Given the description of an element on the screen output the (x, y) to click on. 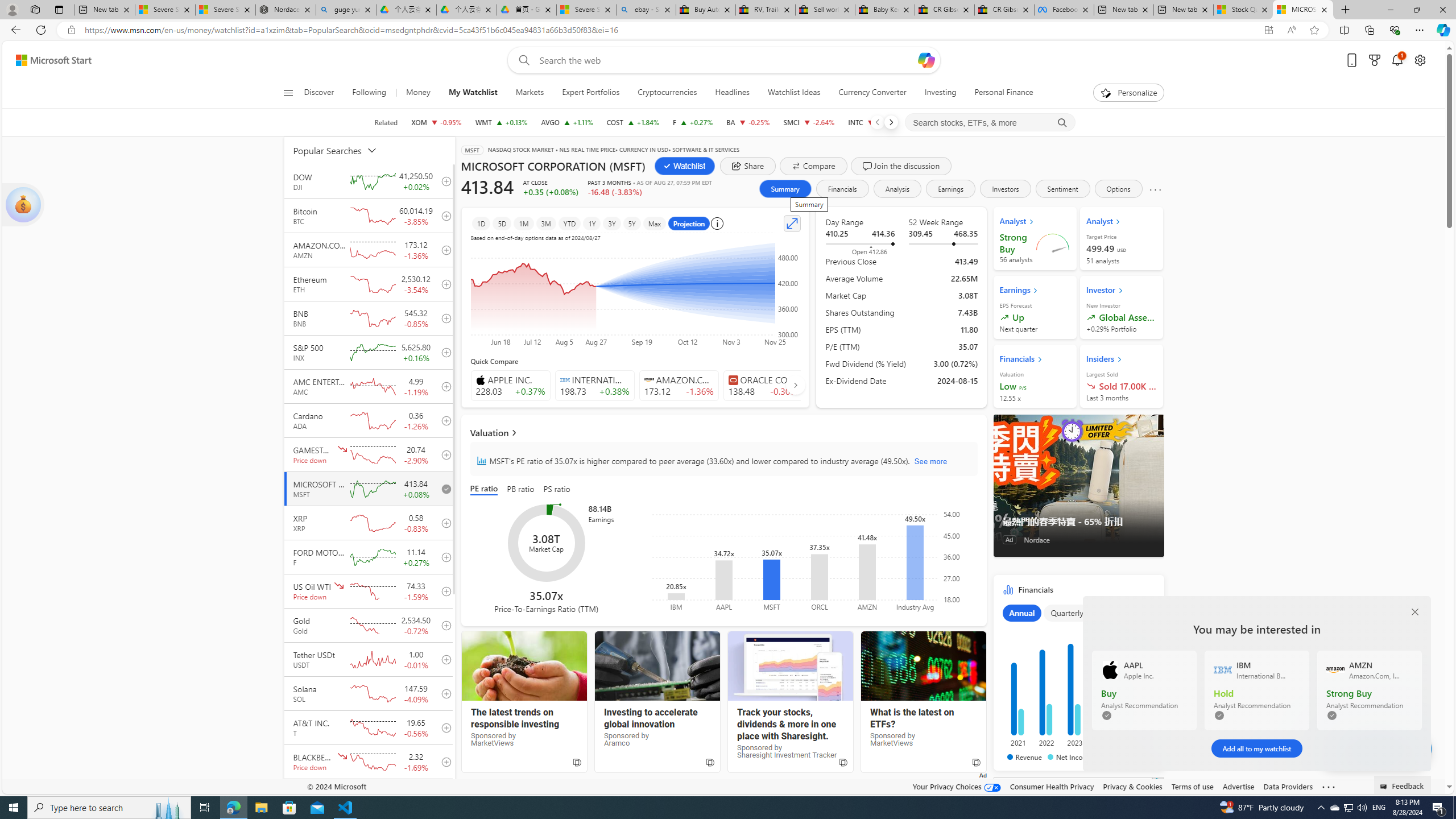
Terms of use (1192, 786)
Facebook (1064, 9)
AVGO Broadcom Inc. increase 161.39 +1.77 +1.11% (566, 122)
MarketViews (922, 666)
Enter your search term (726, 59)
Currency Converter (872, 92)
Earnings (950, 188)
